Given the description of an element on the screen output the (x, y) to click on. 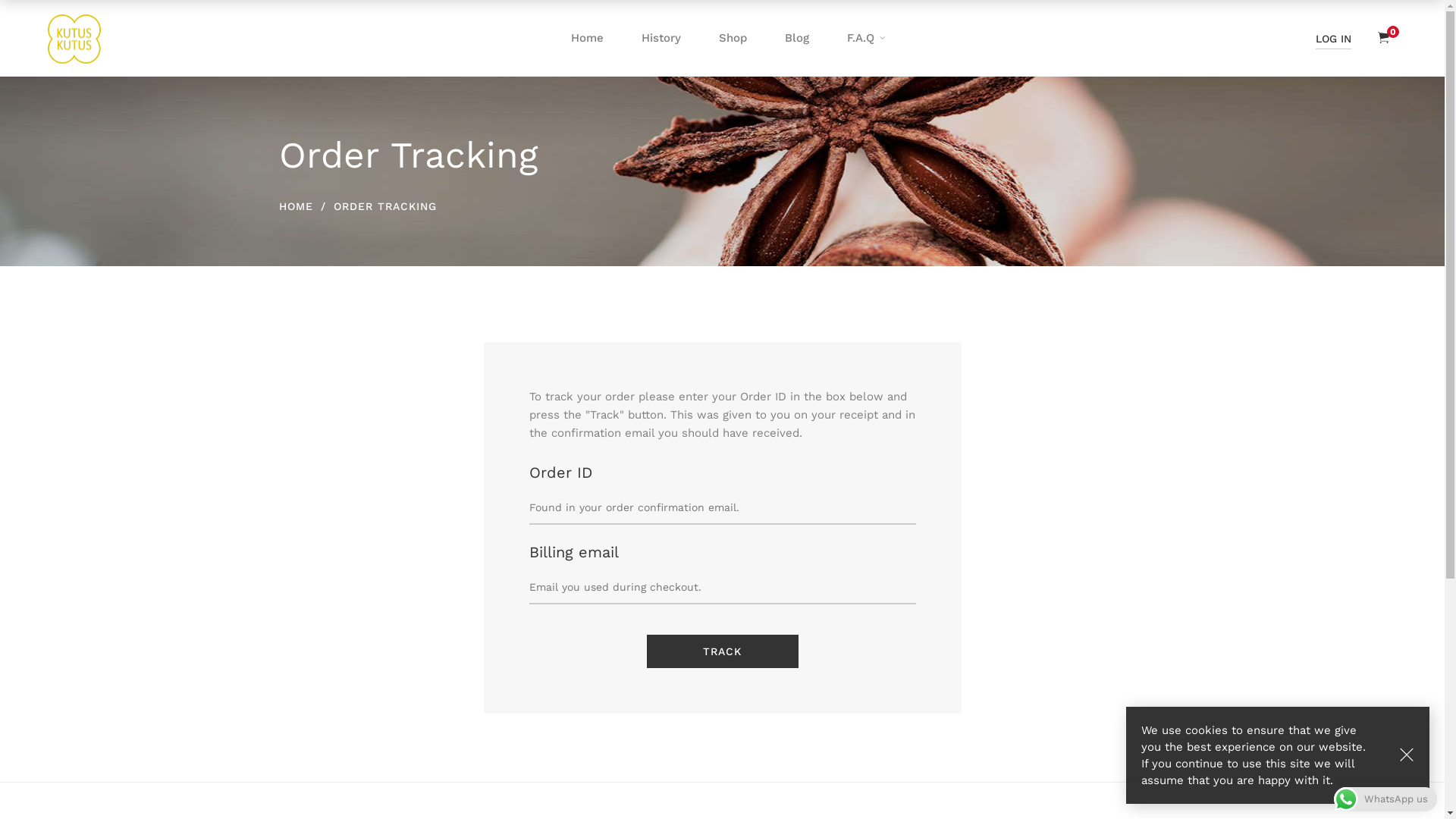
F.A.Q Element type: text (860, 37)
LOG IN Element type: text (1333, 38)
TRACK Element type: text (721, 651)
0 Element type: text (1383, 37)
Blog Element type: text (796, 37)
History Element type: text (660, 37)
Shop Element type: text (732, 37)
Home Element type: text (587, 37)
HOME Element type: text (296, 206)
